Given the description of an element on the screen output the (x, y) to click on. 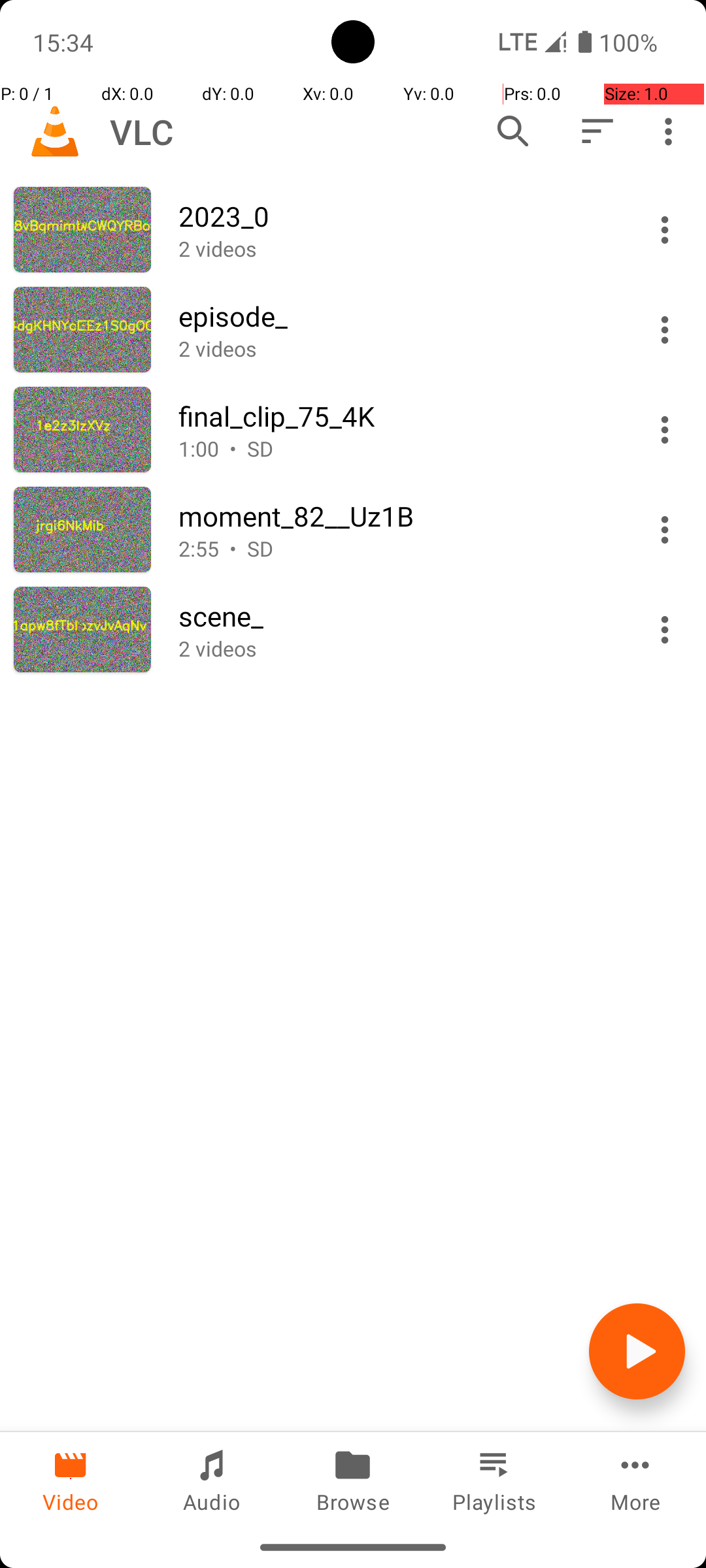
Video group: 2023_0, 2 videos Element type: android.view.ViewGroup (353, 229)
Video group: episode_, 2 videos Element type: android.view.ViewGroup (353, 329)
Video: final_clip_75_4K, Duration: 1 minutes  Element type: android.view.ViewGroup (353, 429)
Video: moment_82__Uz1B, Duration: 2 minutes 55 seconds Element type: android.view.ViewGroup (353, 529)
Video group: scene_, 2 videos Element type: android.view.ViewGroup (353, 629)
2023_0 Element type: android.widget.TextView (397, 215)
2 videos Element type: android.widget.TextView (397, 248)
More Actions Element type: android.widget.ImageView (664, 229)
episode_ Element type: android.widget.TextView (397, 315)
final_clip_75_4K Element type: android.widget.TextView (397, 415)
1:00  •  SD Element type: android.widget.TextView (397, 448)
moment_82__Uz1B Element type: android.widget.TextView (397, 515)
2:55  •  SD Element type: android.widget.TextView (397, 548)
scene_ Element type: android.widget.TextView (397, 615)
